Given the description of an element on the screen output the (x, y) to click on. 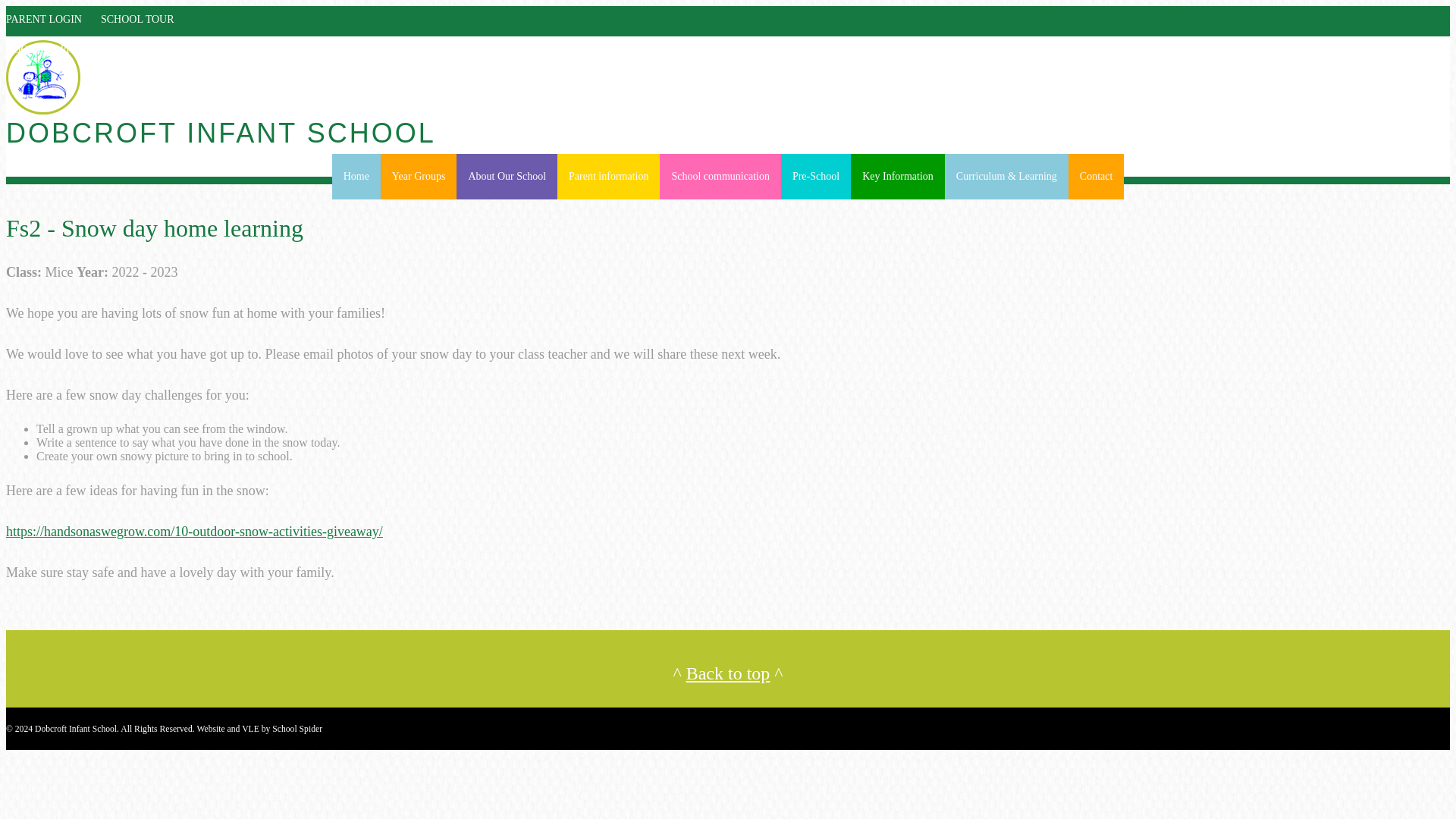
Pre-School (815, 176)
Year Groups (418, 176)
Home (355, 176)
Back to top (727, 673)
PARENT LOGIN (46, 28)
School communication (719, 176)
Parent information (608, 176)
Key Information (897, 176)
Contact (1096, 176)
About Our School (507, 176)
SCHOOL TOUR (141, 28)
